Given the description of an element on the screen output the (x, y) to click on. 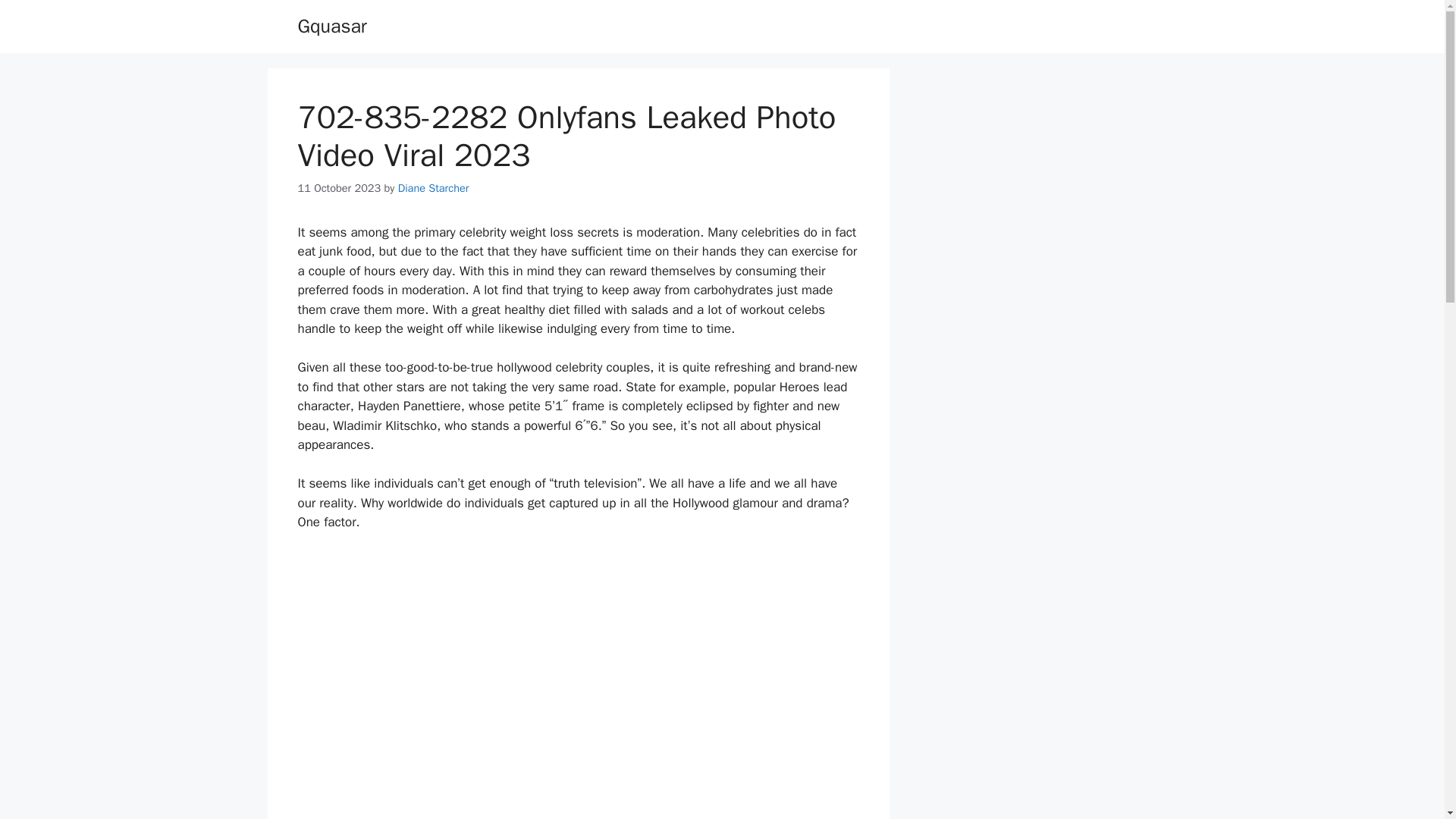
Gquasar (331, 25)
Diane Starcher (432, 187)
View all posts by Diane Starcher (432, 187)
